Given the description of an element on the screen output the (x, y) to click on. 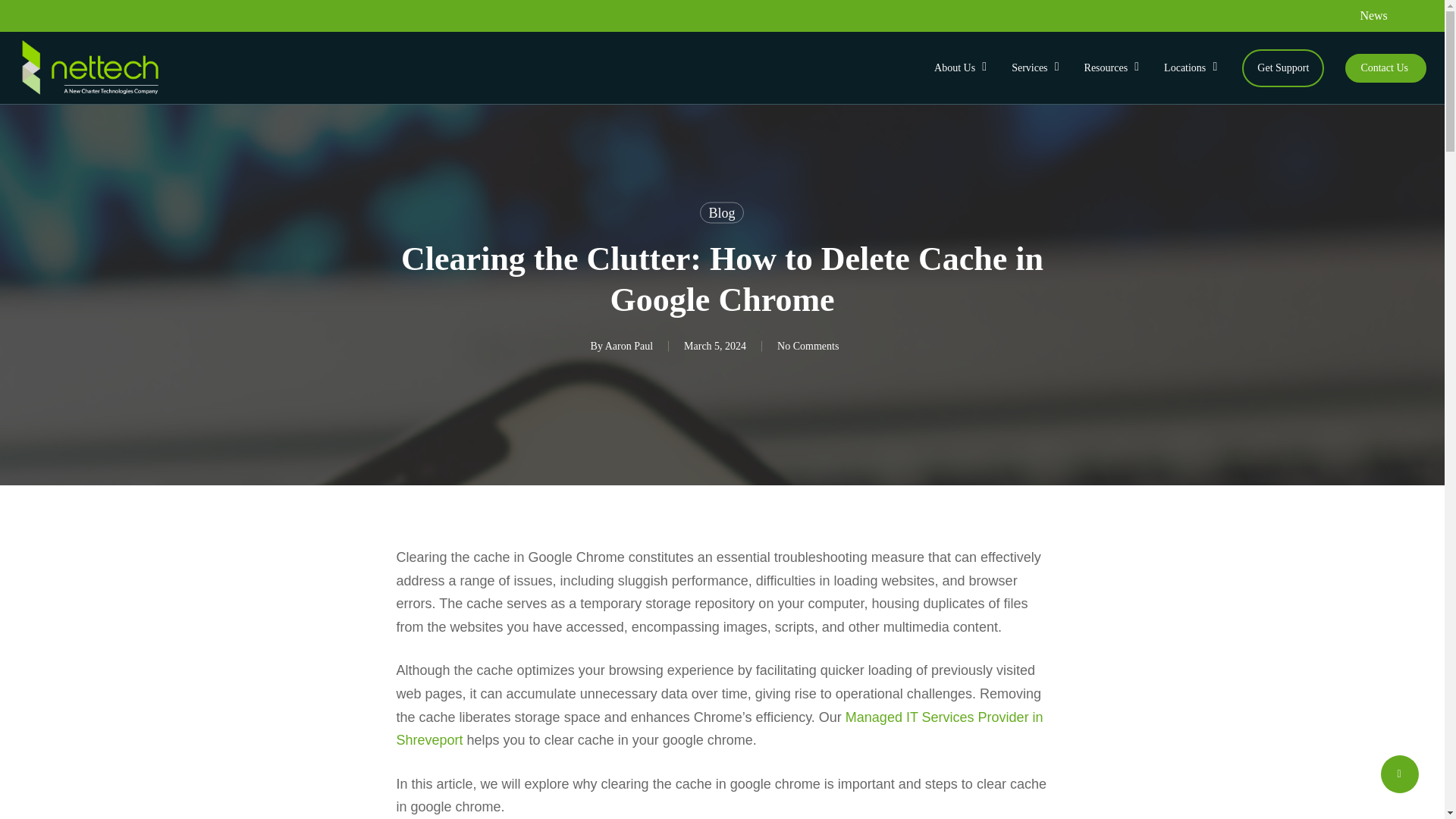
Get Support (1282, 68)
About Us (962, 68)
Services (1037, 68)
Contact Us (1384, 68)
Locations (1192, 68)
Resources (1114, 68)
News (1373, 15)
Posts by Aaron Paul (628, 345)
